Given the description of an element on the screen output the (x, y) to click on. 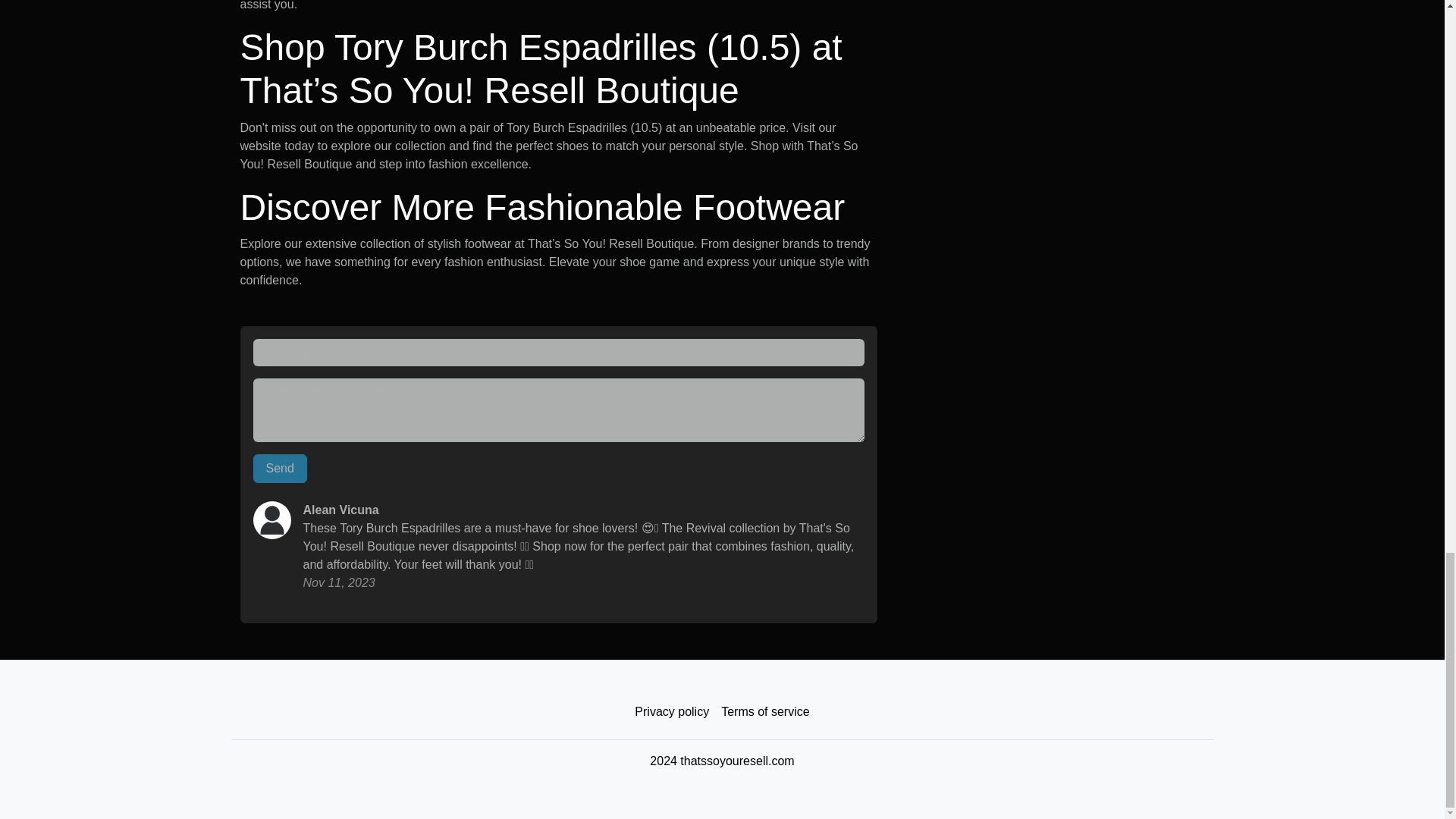
Privacy policy (671, 711)
Send (280, 468)
Send (280, 468)
Terms of service (764, 711)
